Given the description of an element on the screen output the (x, y) to click on. 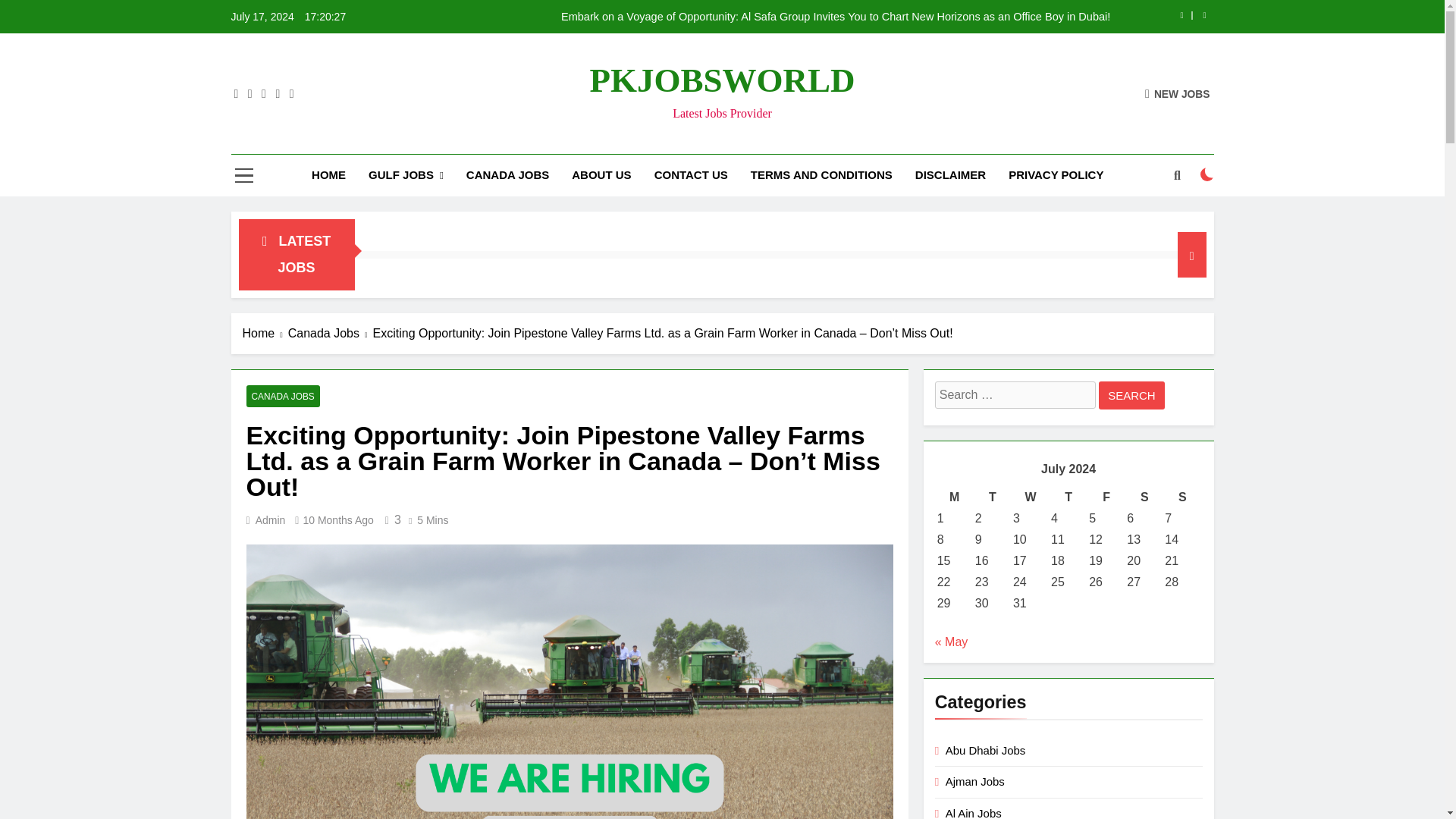
PKJOBSWORLD (721, 80)
TERMS AND CONDITIONS (821, 174)
Wednesday (1029, 496)
Saturday (1143, 496)
CANADA JOBS (507, 174)
Monday (954, 496)
Sunday (1181, 496)
GULF JOBS (405, 175)
on (1206, 173)
PRIVACY POLICY (1056, 174)
Friday (1105, 496)
CONTACT US (691, 174)
HOME (327, 174)
